Given the description of an element on the screen output the (x, y) to click on. 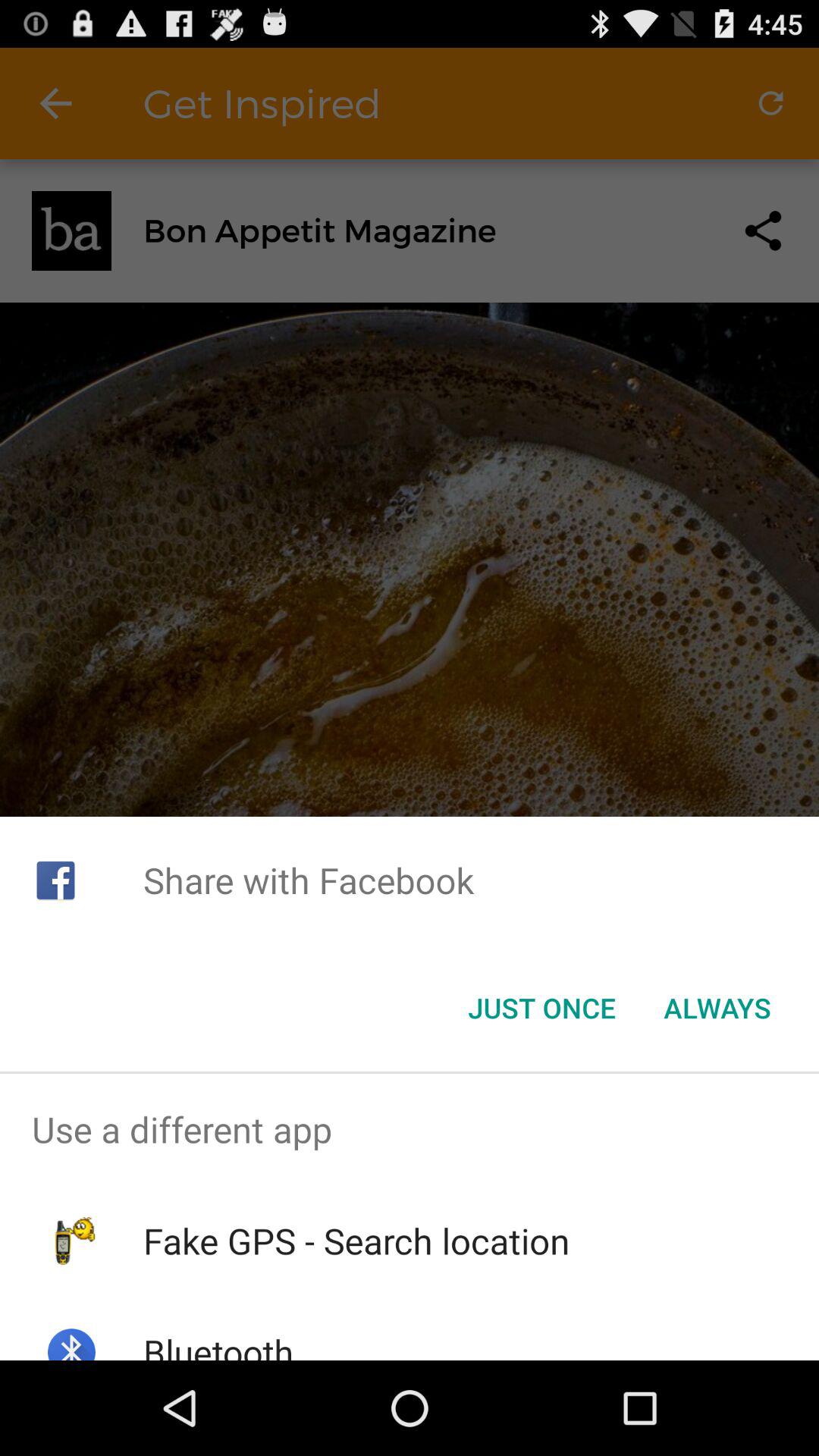
turn off the bluetooth item (218, 1344)
